Given the description of an element on the screen output the (x, y) to click on. 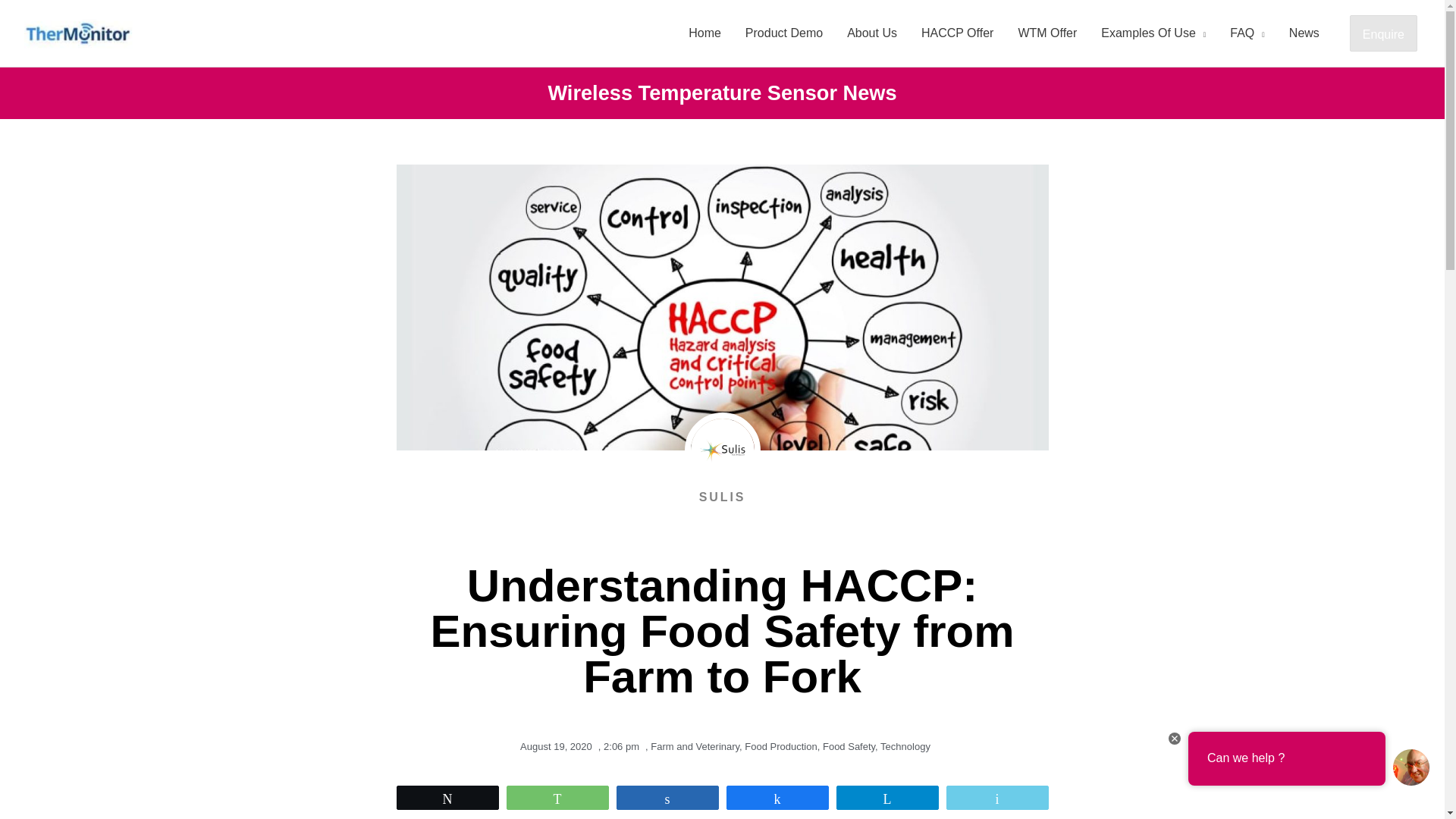
HACCP (593, 808)
Food Production (780, 746)
Technology (905, 746)
News (1304, 33)
Product Demo (783, 33)
Examples Of Use (1153, 33)
Enquire (1382, 33)
Food Safety (848, 746)
WTM Offer (1047, 33)
Farm and Veterinary (694, 746)
Home (705, 33)
August 19, 2020 (552, 746)
HACCP Offer (957, 33)
FAQ (1246, 33)
